Given the description of an element on the screen output the (x, y) to click on. 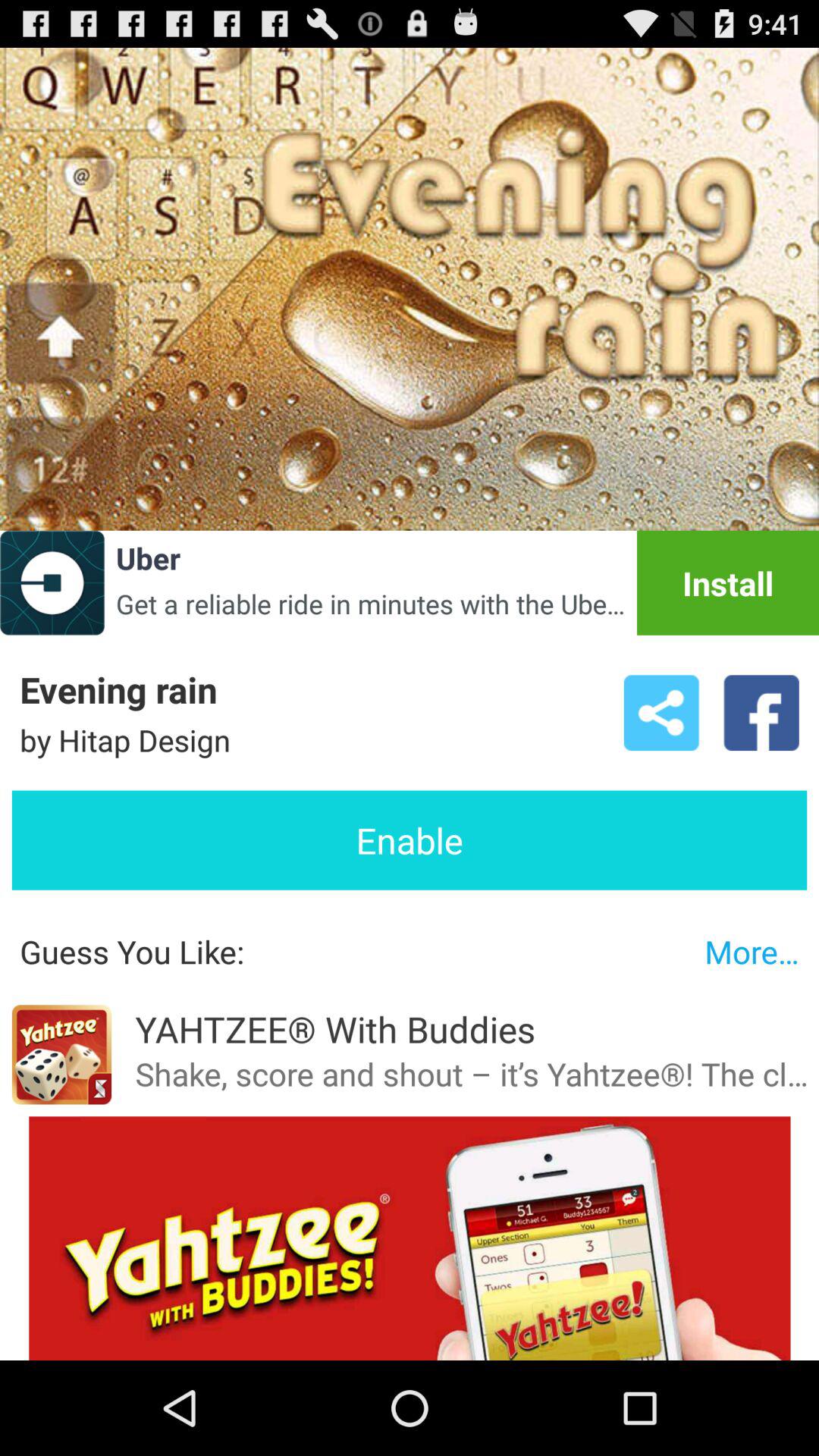
turn on button below the enable item (751, 951)
